Given the description of an element on the screen output the (x, y) to click on. 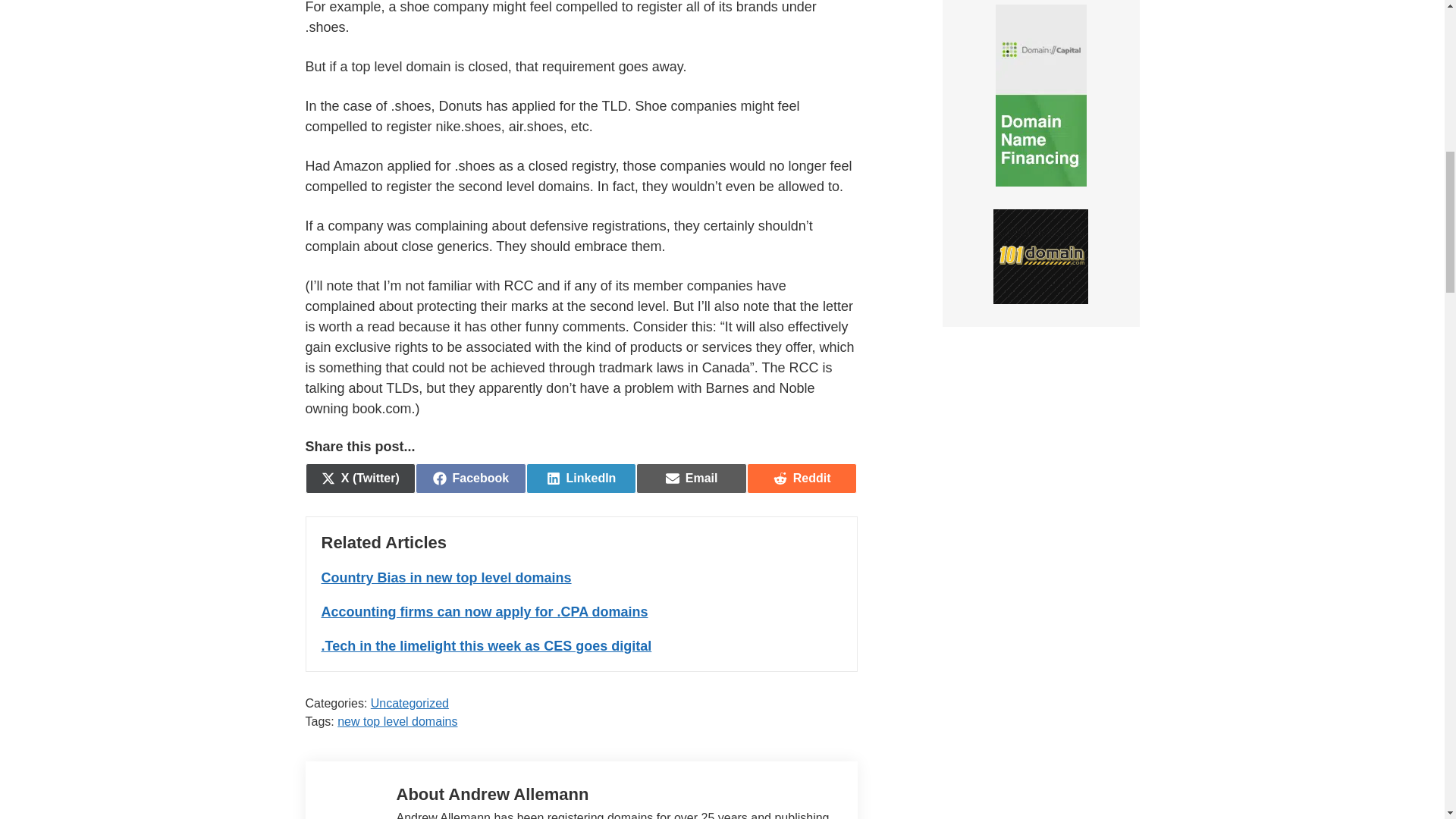
Country Bias in new top level domains (446, 577)
Accounting firms can now apply for .CPA domains (581, 478)
.Tech in the limelight this week as CES goes digital (484, 611)
